Given the description of an element on the screen output the (x, y) to click on. 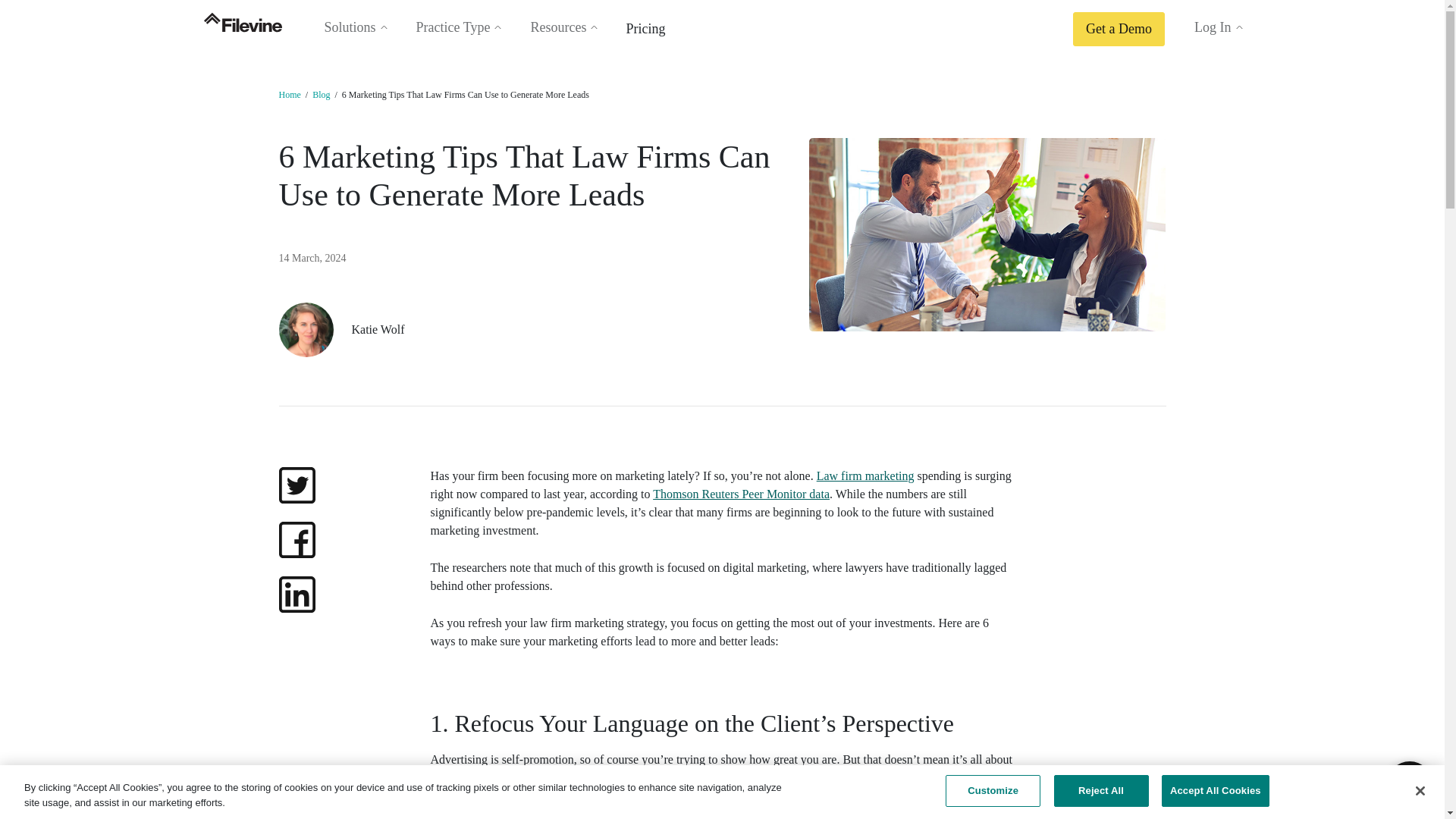
Solutions (351, 27)
Resources (559, 27)
Practice Type (454, 27)
